Given the description of an element on the screen output the (x, y) to click on. 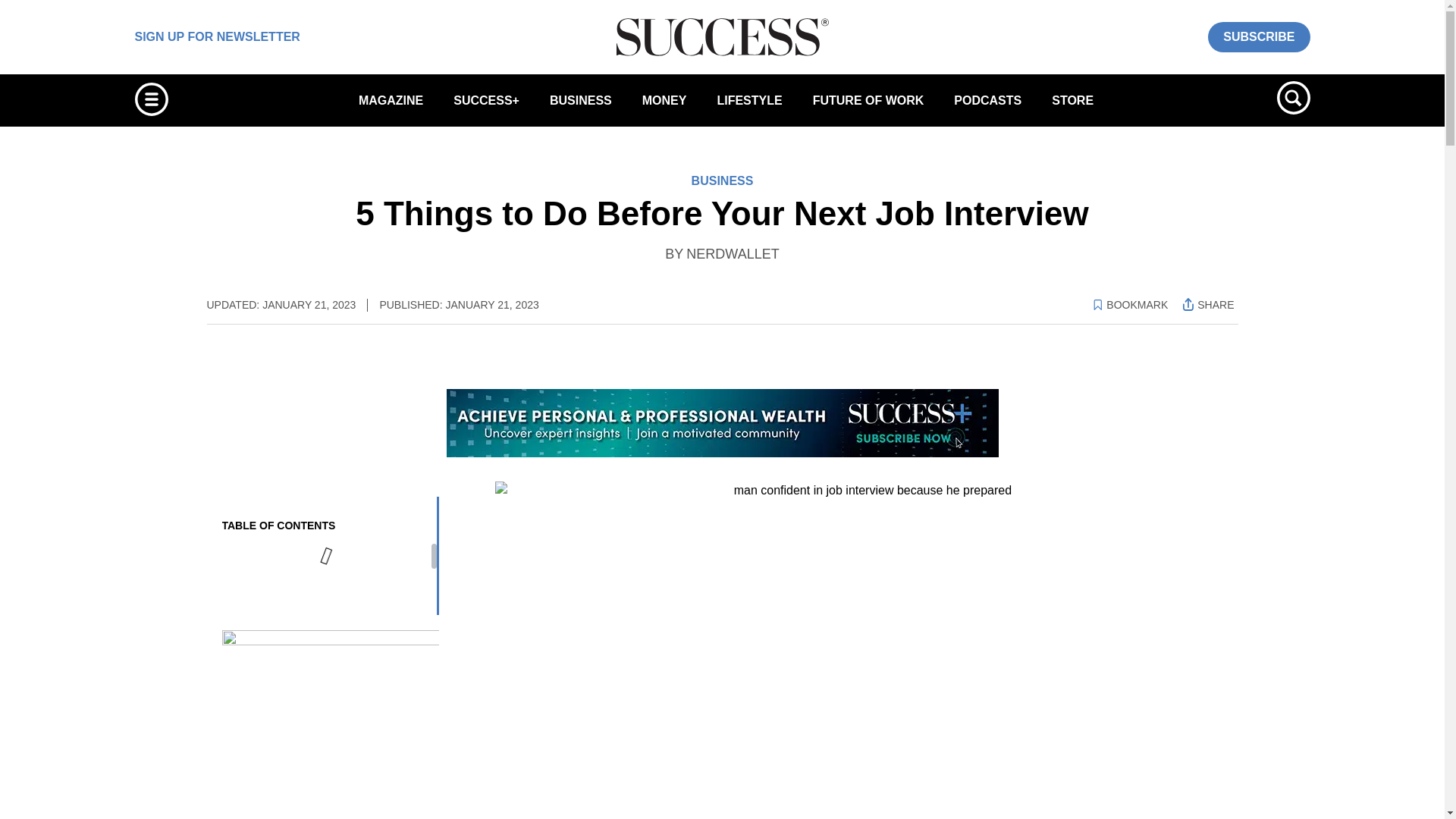
FUTURE OF WORK (868, 100)
BUSINESS (580, 100)
STORE (1072, 100)
SIGN UP FOR NEWSLETTER (217, 36)
MAGAZINE (390, 100)
SUBSCRIBE (1258, 36)
PODCASTS (987, 100)
LIFESTYLE (748, 100)
MONEY (664, 100)
